Given the description of an element on the screen output the (x, y) to click on. 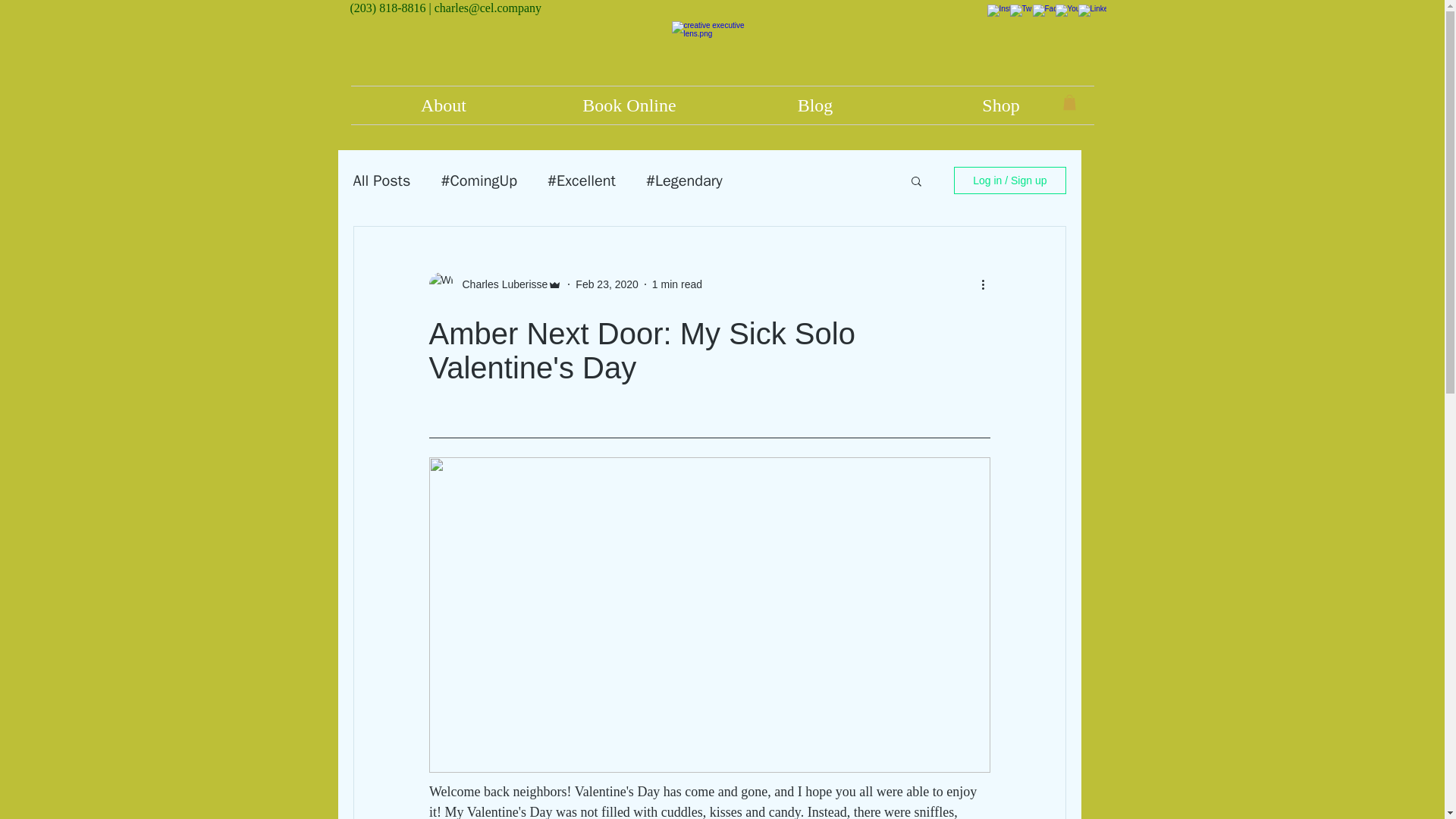
Charles Luberisse (500, 283)
All Posts (381, 179)
1 min read (676, 283)
About (442, 105)
Blog (814, 105)
Feb 23, 2020 (607, 283)
Shop (1001, 105)
Book Online (629, 105)
